Given the description of an element on the screen output the (x, y) to click on. 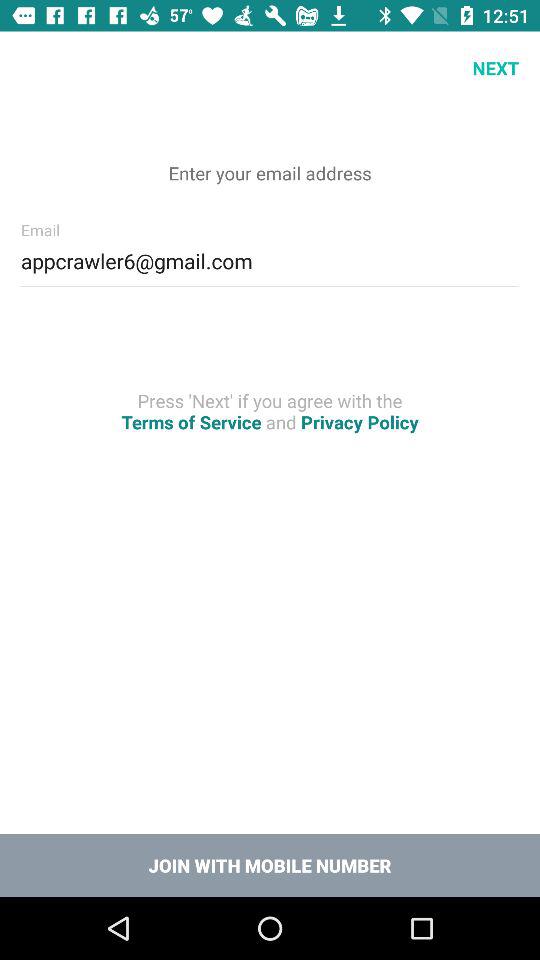
click item next to next item (36, 68)
